Given the description of an element on the screen output the (x, y) to click on. 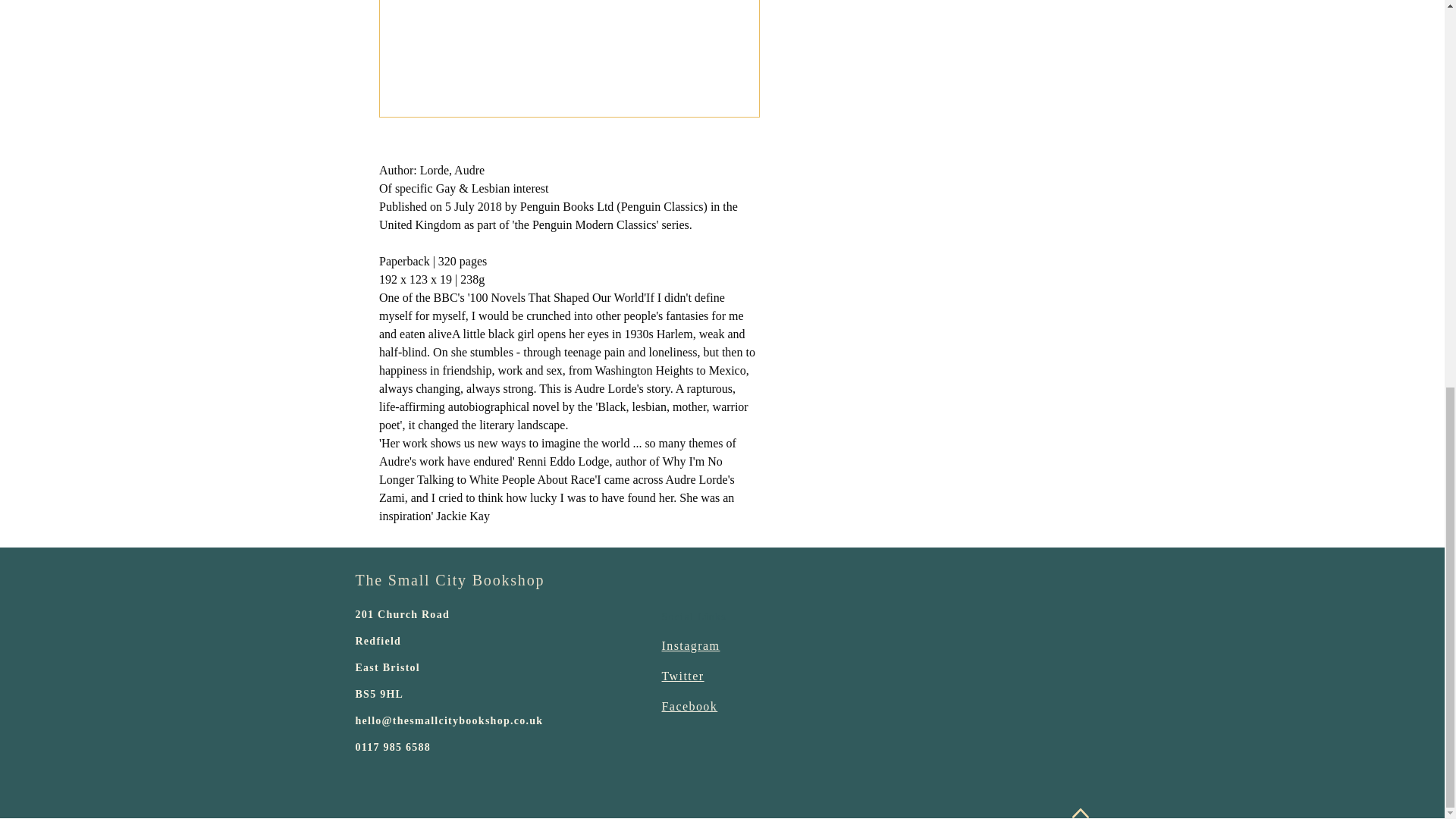
Instagram (690, 645)
Twitter (682, 675)
Facebook (689, 706)
